Given the description of an element on the screen output the (x, y) to click on. 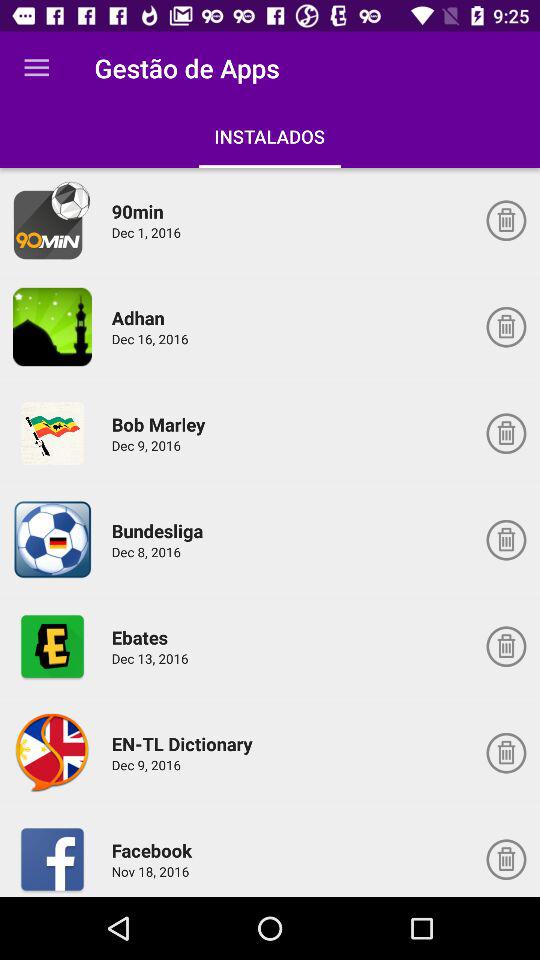
select the bob marley icon (161, 424)
